Given the description of an element on the screen output the (x, y) to click on. 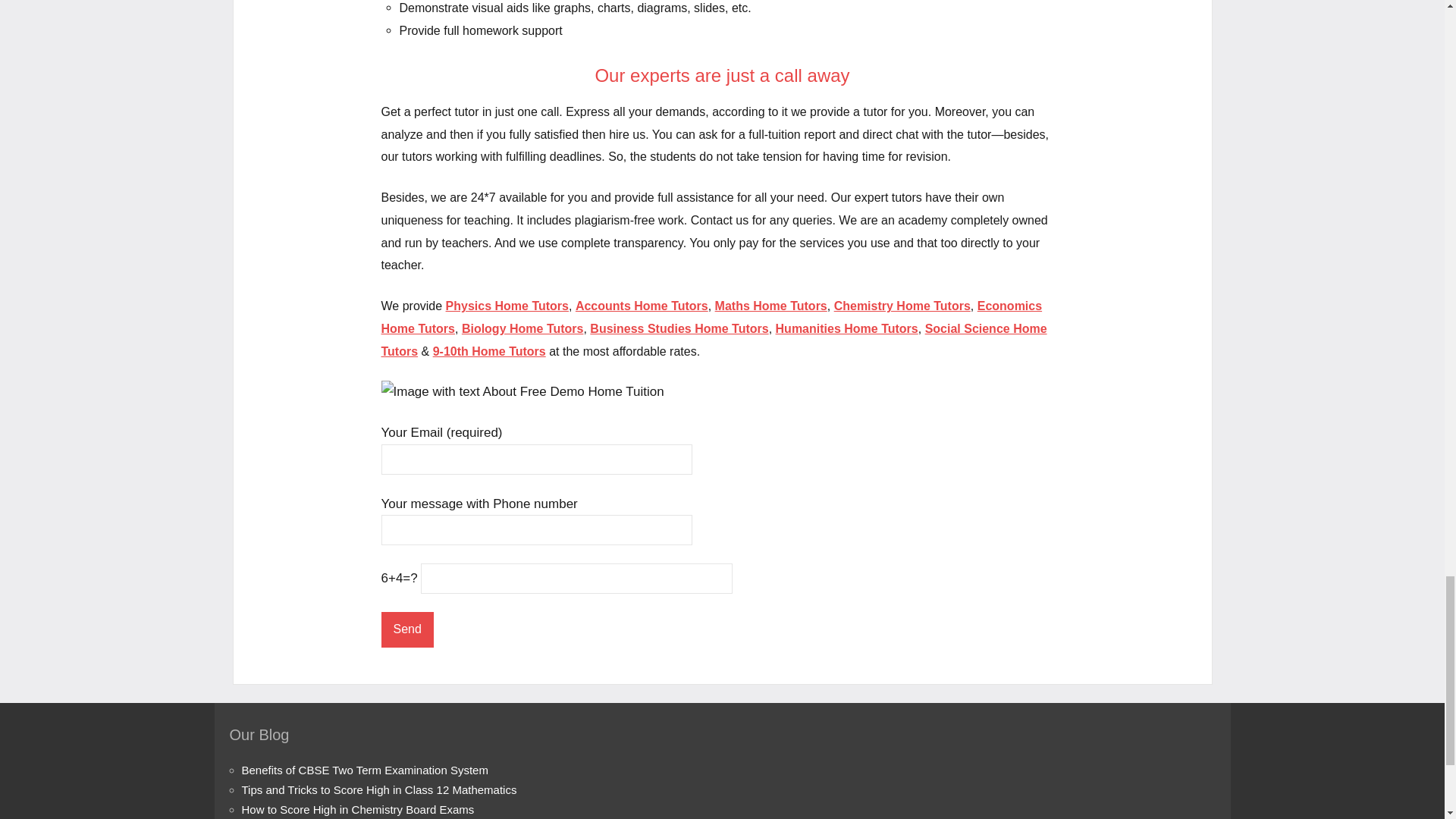
Physics Home Tutors (507, 305)
Send (406, 628)
